Given the description of an element on the screen output the (x, y) to click on. 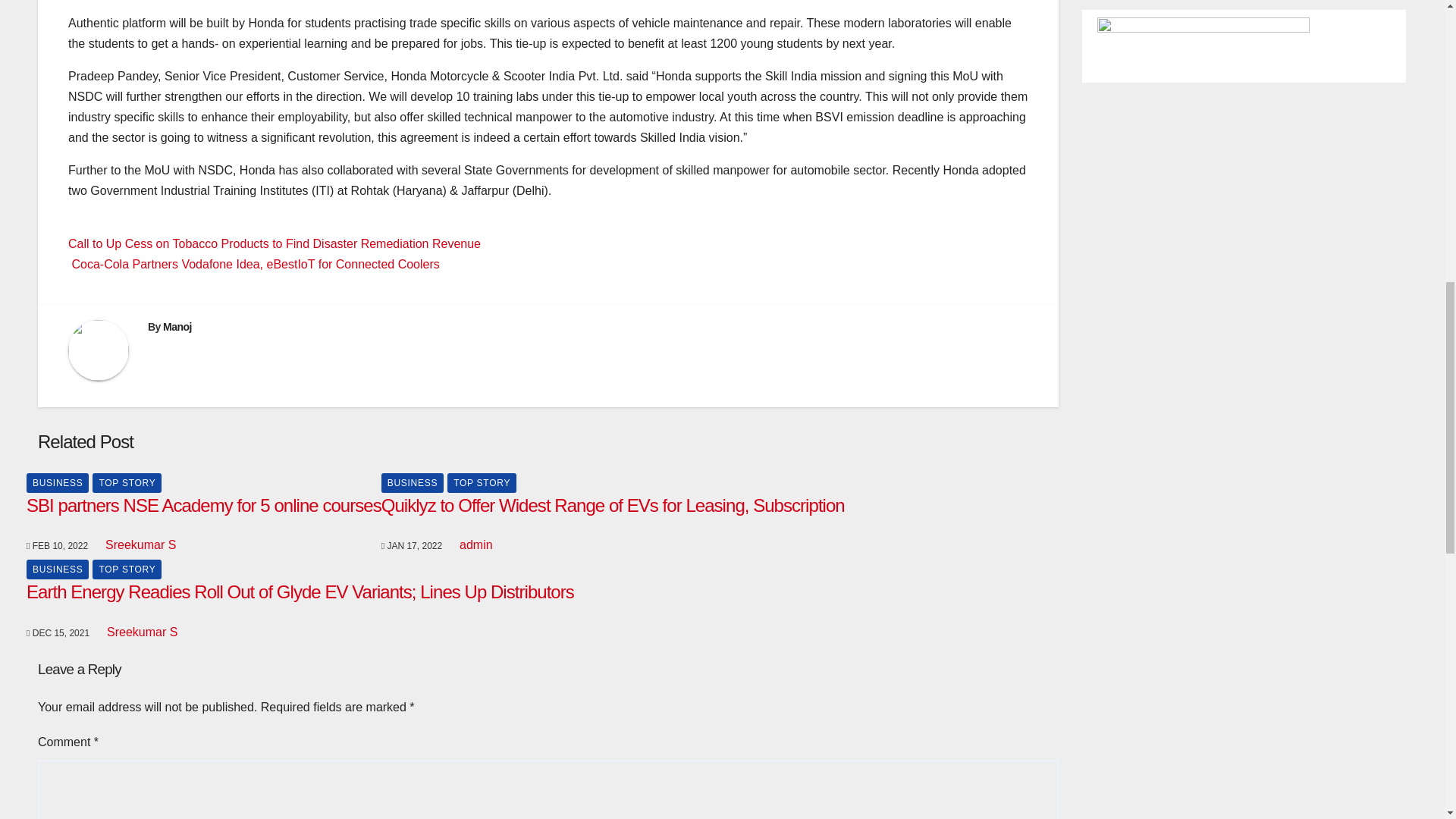
SBI partners NSE Academy for 5 online courses (203, 505)
Manoj (177, 326)
Sreekumar S (138, 544)
Permalink to: SBI partners NSE Academy for 5 online courses (203, 505)
BUSINESS (57, 569)
TOP STORY (127, 483)
BUSINESS (57, 483)
BUSINESS (412, 483)
TOP STORY (481, 483)
admin (475, 544)
